Given the description of an element on the screen output the (x, y) to click on. 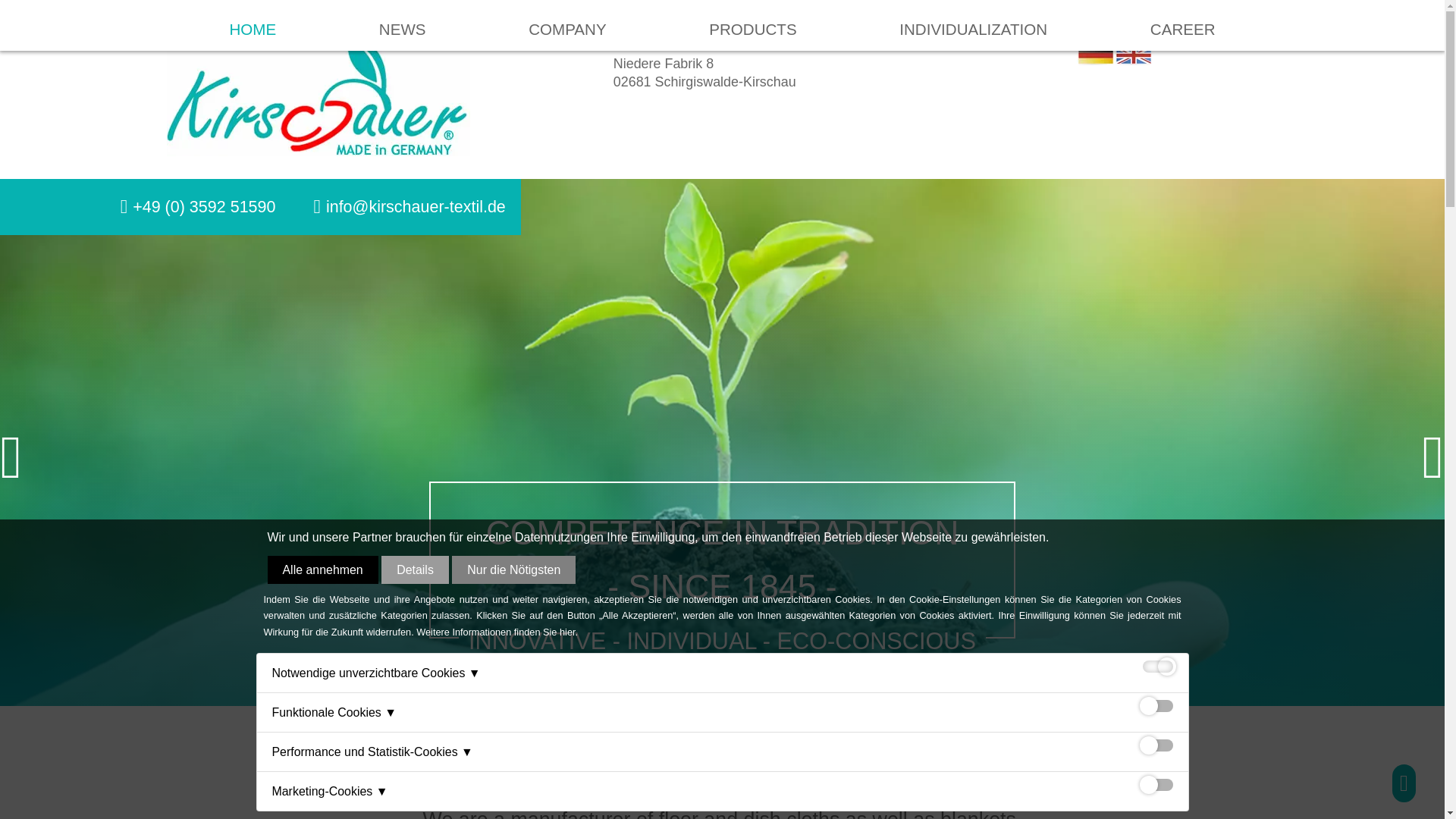
Kirschauer Textil GmbH - Made in Germany (318, 93)
NEWS (402, 11)
COMPANY (566, 12)
en (1134, 55)
News (402, 25)
PRODUCTS (752, 19)
Career (1182, 25)
Individualization (972, 25)
Kontakt (415, 207)
Company (566, 25)
